Given the description of an element on the screen output the (x, y) to click on. 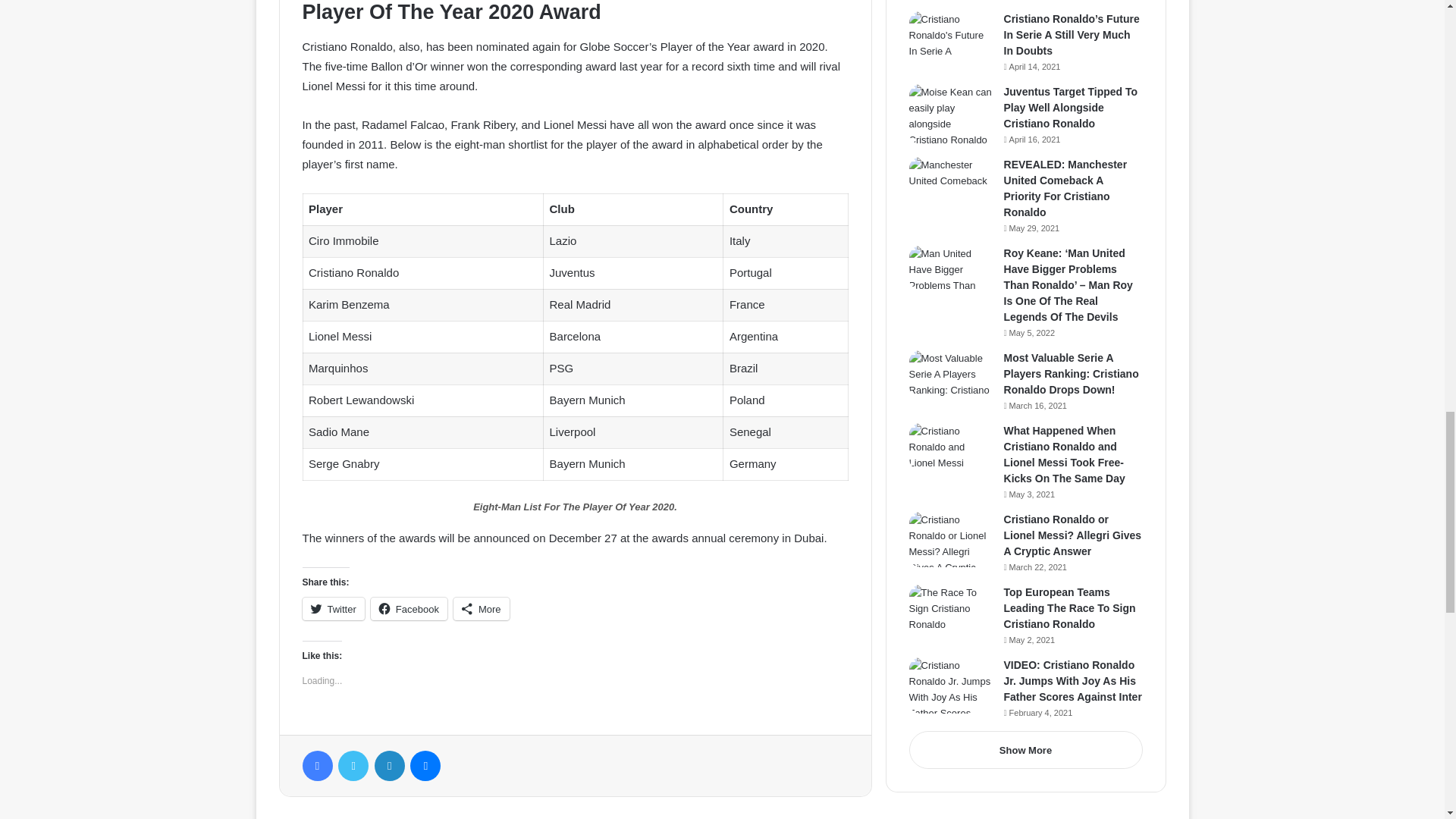
More (480, 608)
Click to share on Facebook (408, 608)
Facebook (408, 608)
Twitter (332, 608)
Click to share on Twitter (332, 608)
